Given the description of an element on the screen output the (x, y) to click on. 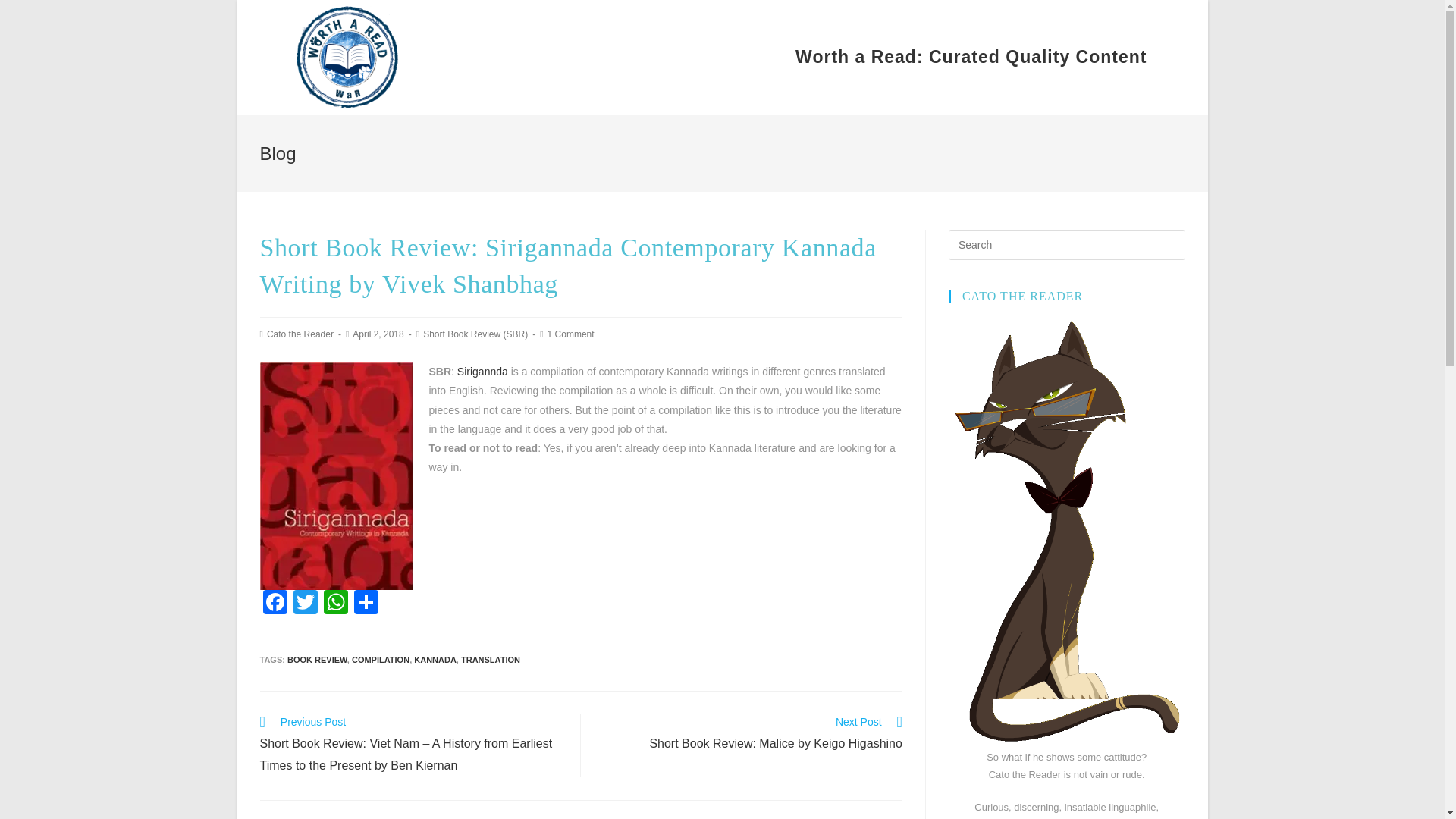
Facebook (274, 603)
KANNADA (435, 659)
Cato the Reader (299, 334)
Share (365, 603)
WhatsApp (335, 603)
1 Comment (570, 334)
COMPILATION (380, 659)
WhatsApp (335, 603)
Twitter (304, 603)
BOOK REVIEW (316, 659)
Sirigannda (482, 371)
Logo1 (346, 57)
Facebook (748, 734)
TRANSLATION (274, 603)
